Given the description of an element on the screen output the (x, y) to click on. 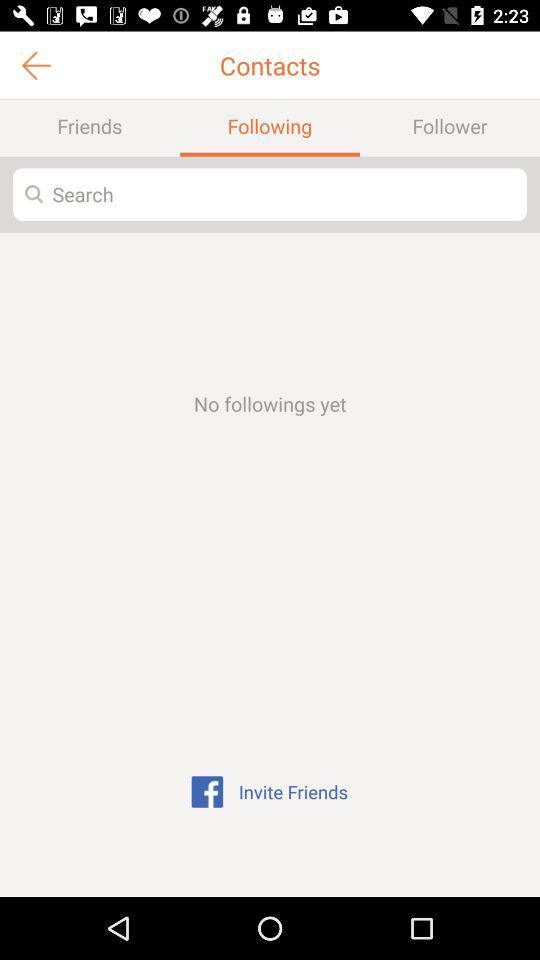
enter to search (269, 194)
